Given the description of an element on the screen output the (x, y) to click on. 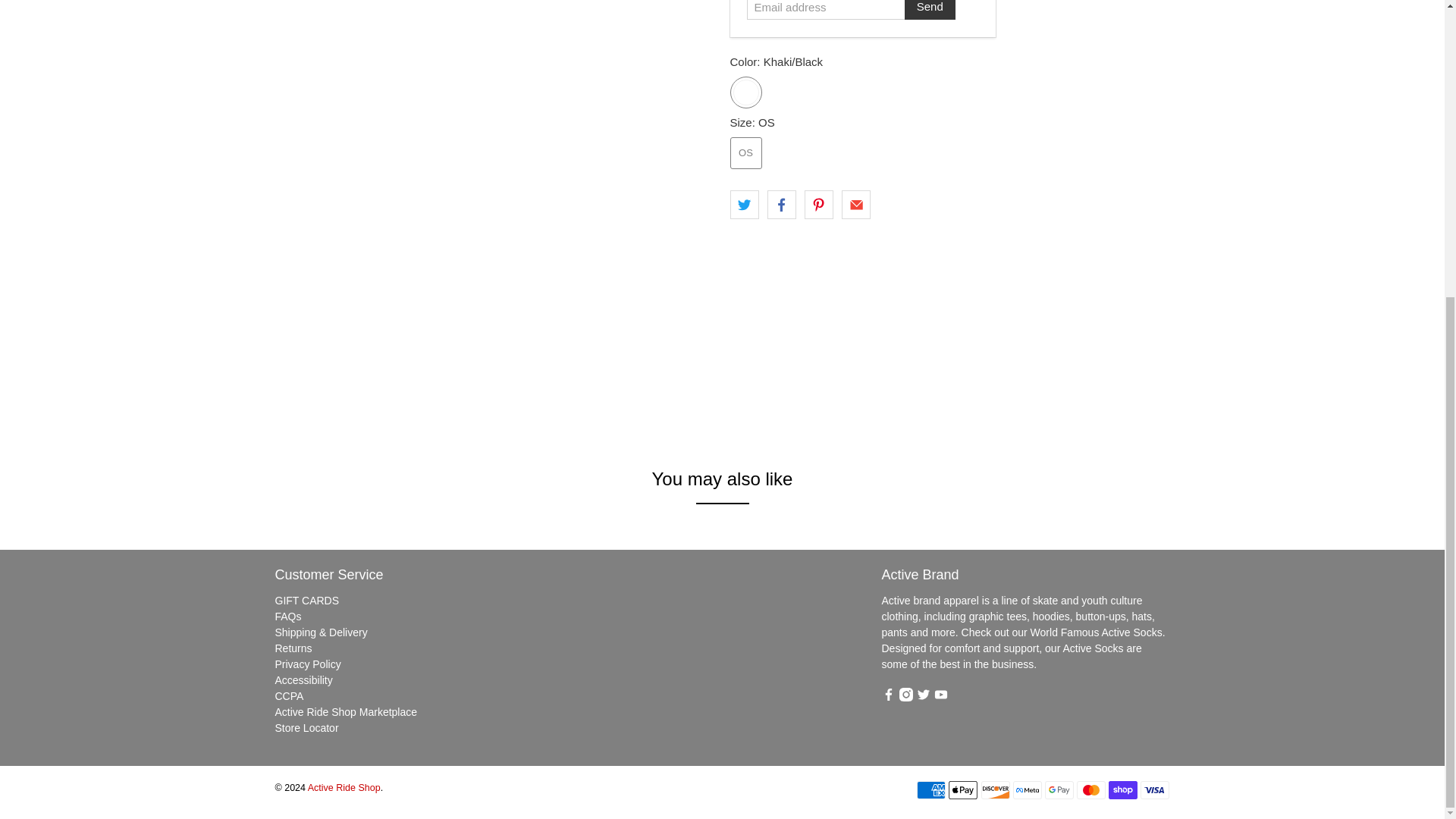
GIFT CARDS (307, 600)
Share this on Pinterest (818, 204)
Active Ride Shop on Facebook (887, 697)
Active Ride Shop on YouTube (940, 697)
Send (929, 10)
Share this on Twitter (743, 204)
Apple Pay (962, 790)
Privacy Policy (307, 664)
Send (929, 10)
FAQs (288, 616)
